Given the description of an element on the screen output the (x, y) to click on. 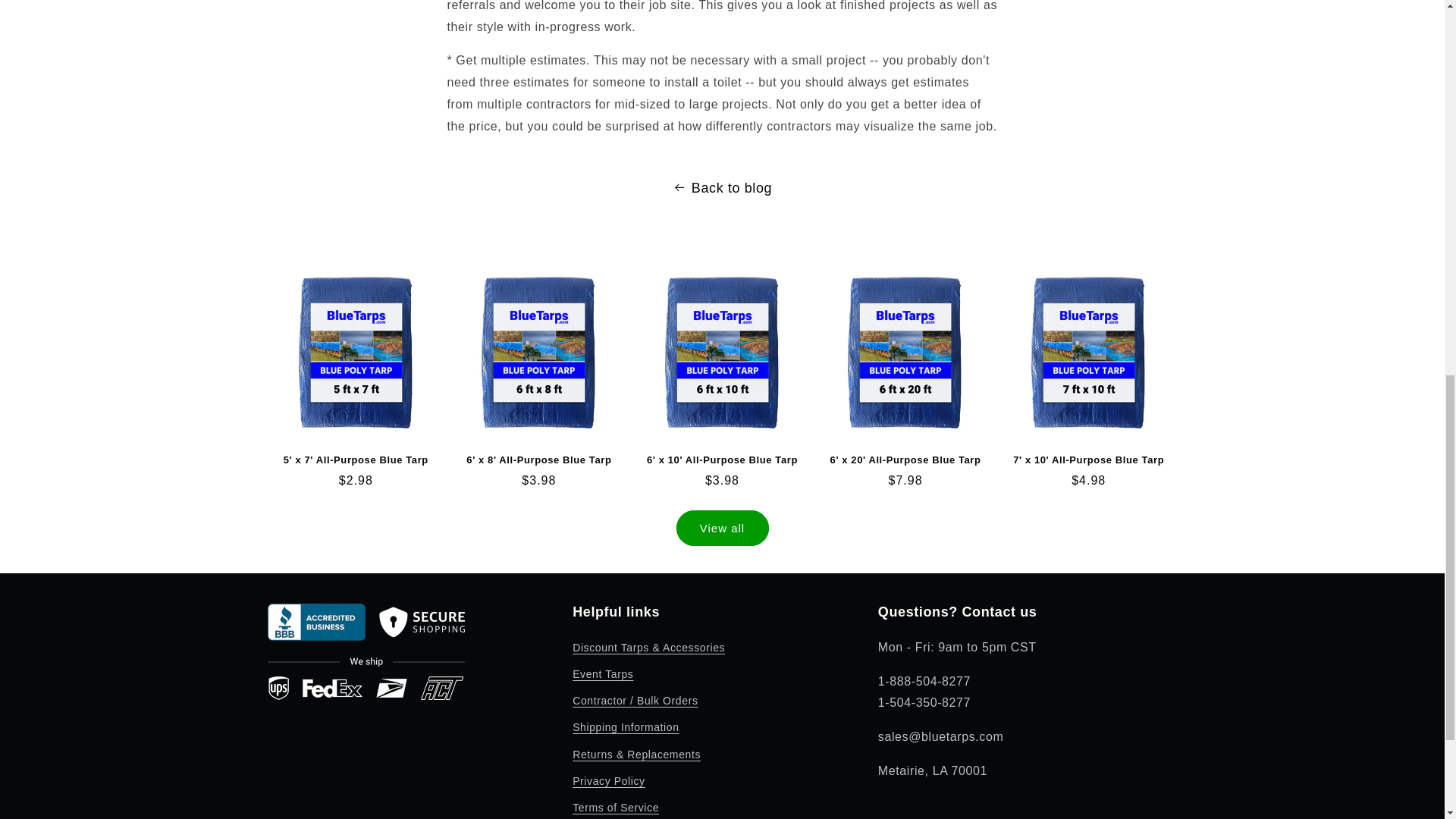
6' x 10' All-Purpose Blue Tarp (721, 460)
View all (722, 528)
7' x 10' All-Purpose Blue Tarp (1088, 460)
6' x 8' All-Purpose Blue Tarp (538, 460)
6' x 20' All-Purpose Blue Tarp (905, 460)
Event Tarps (602, 673)
Shipping Information (625, 727)
Terms of Service (615, 806)
5' x 7' All-Purpose Blue Tarp (355, 460)
Privacy Policy (608, 781)
